Given the description of an element on the screen output the (x, y) to click on. 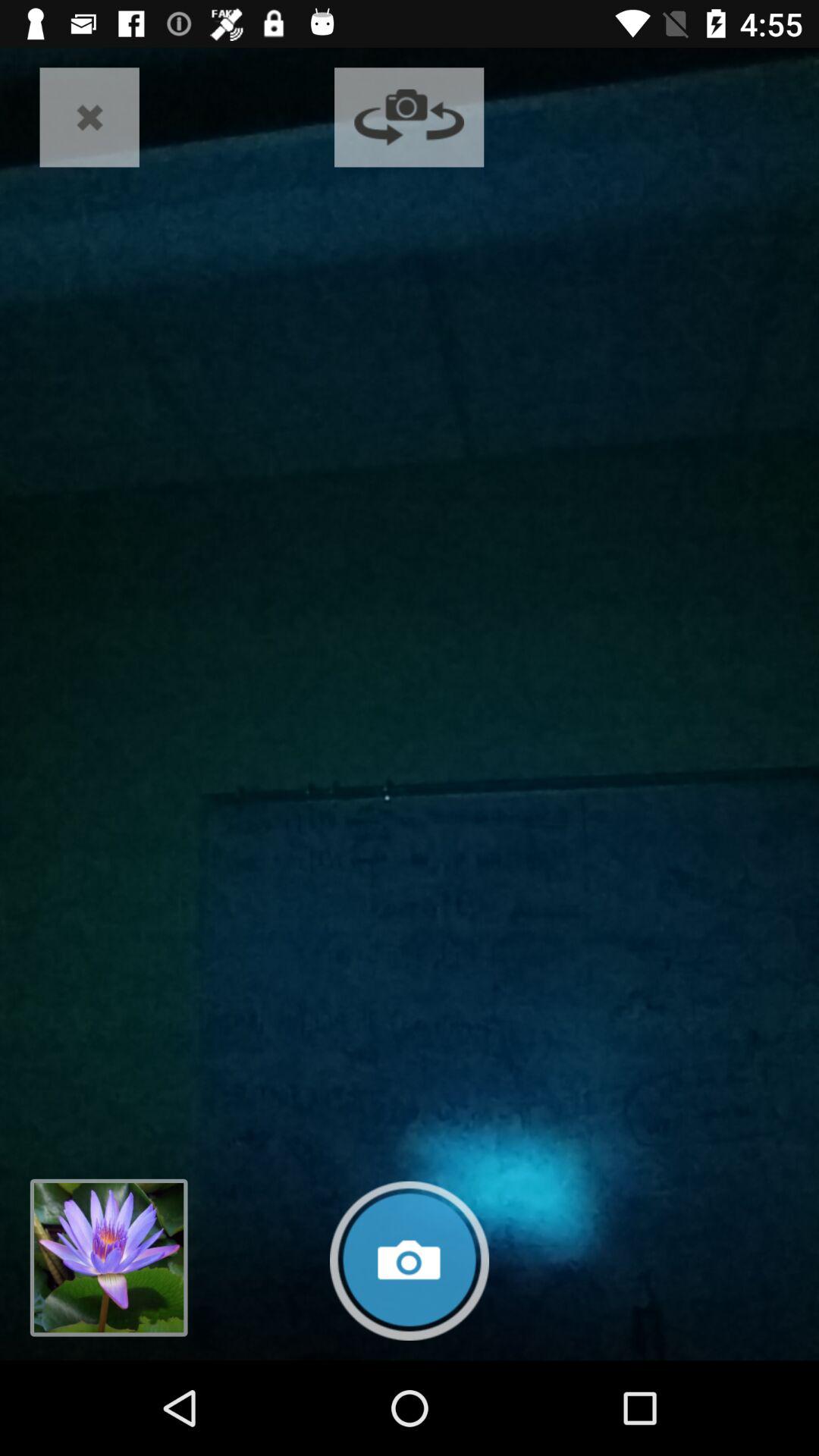
close it (89, 117)
